Given the description of an element on the screen output the (x, y) to click on. 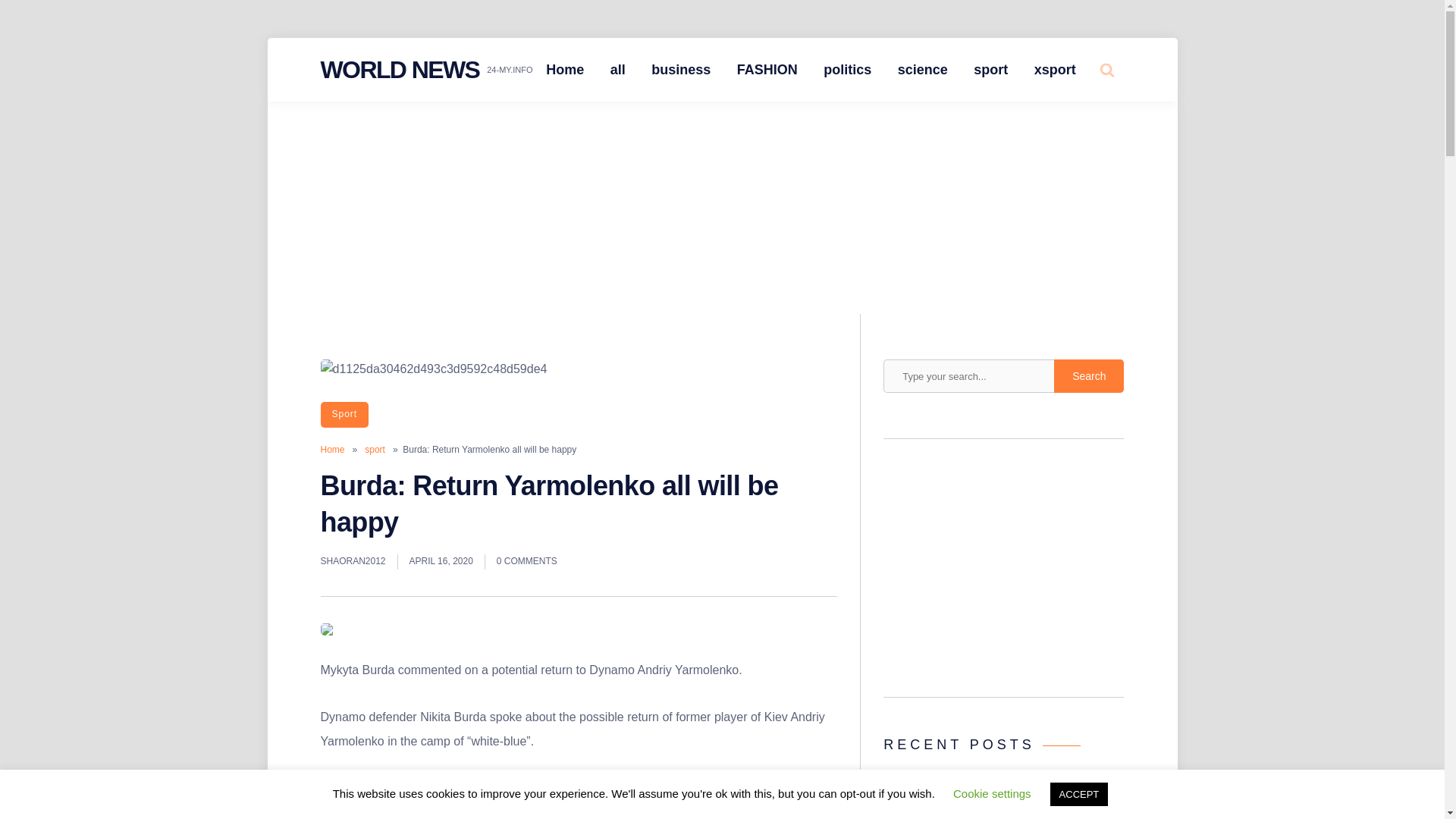
Search (1089, 376)
all (617, 69)
politics (847, 69)
business (681, 69)
Home (331, 449)
xsport (1055, 69)
Search (1089, 376)
WORLD NEWS (399, 69)
Home (564, 69)
FASHION (767, 69)
